Given the description of an element on the screen output the (x, y) to click on. 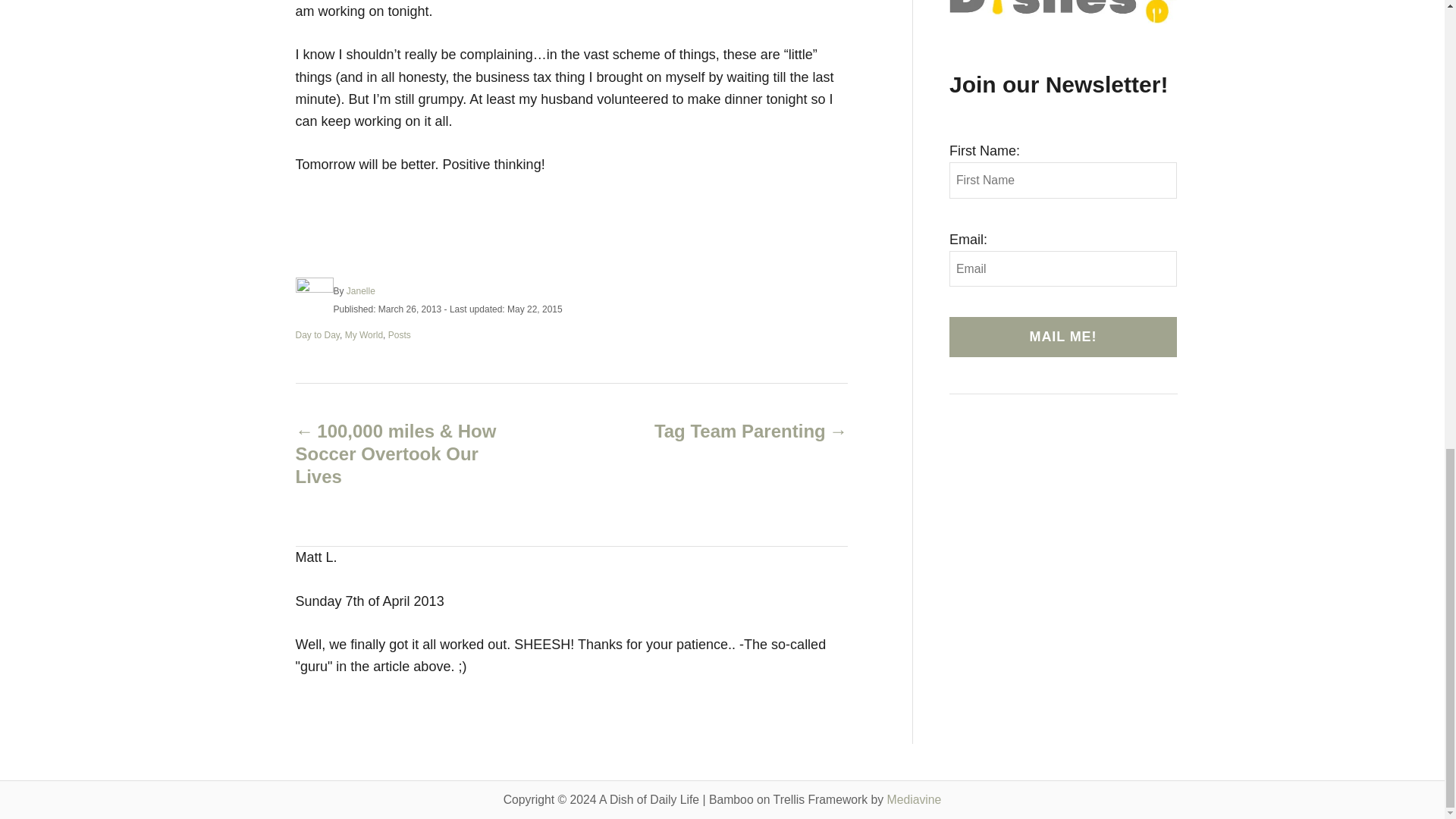
Janelle (360, 290)
Tag Team Parenting (736, 431)
Posts (399, 335)
MAIL ME! (1062, 336)
My World (363, 335)
Day to Day (317, 335)
Mediavine (914, 799)
